Given the description of an element on the screen output the (x, y) to click on. 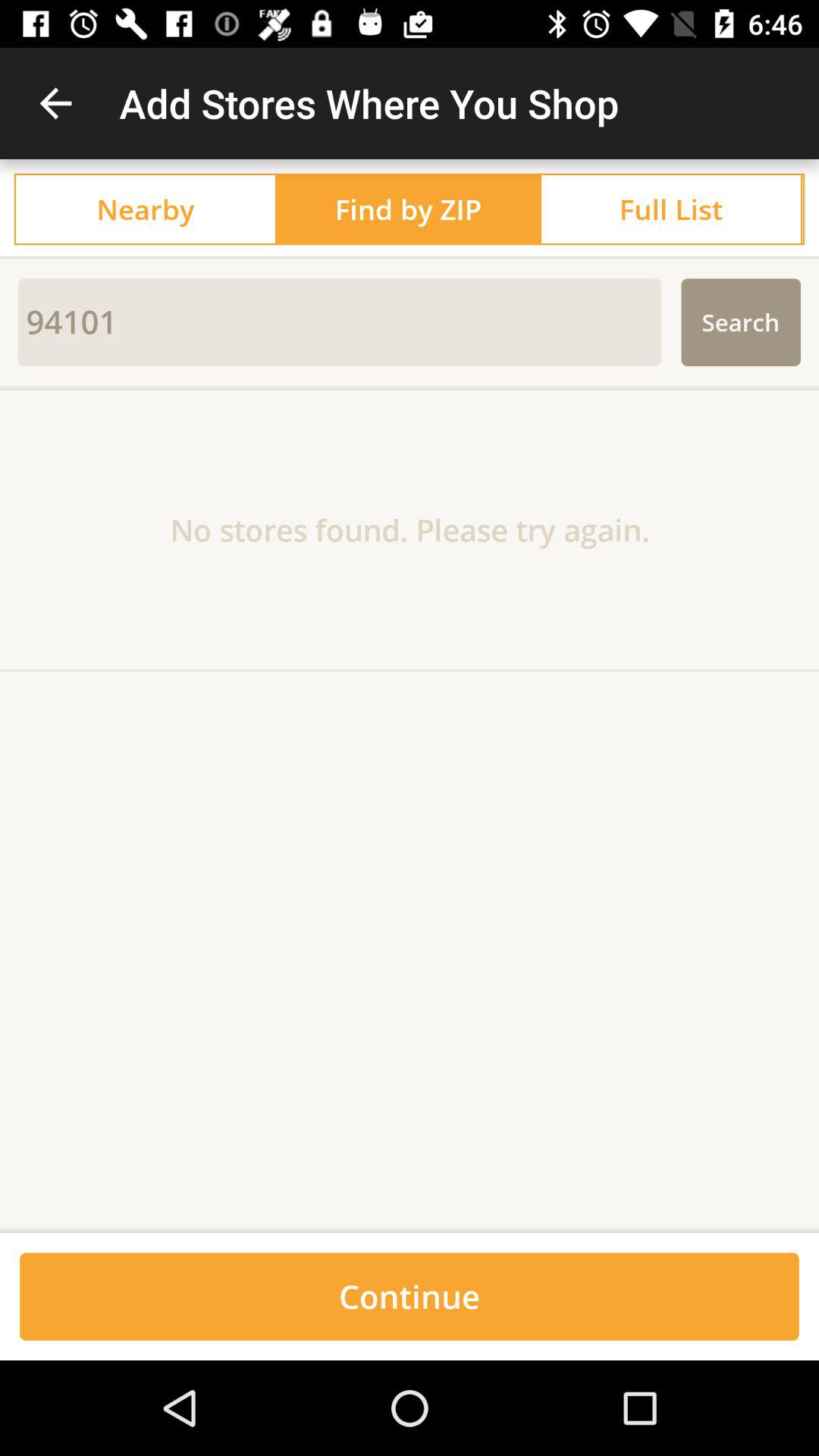
scroll to the 94101 item (339, 322)
